Given the description of an element on the screen output the (x, y) to click on. 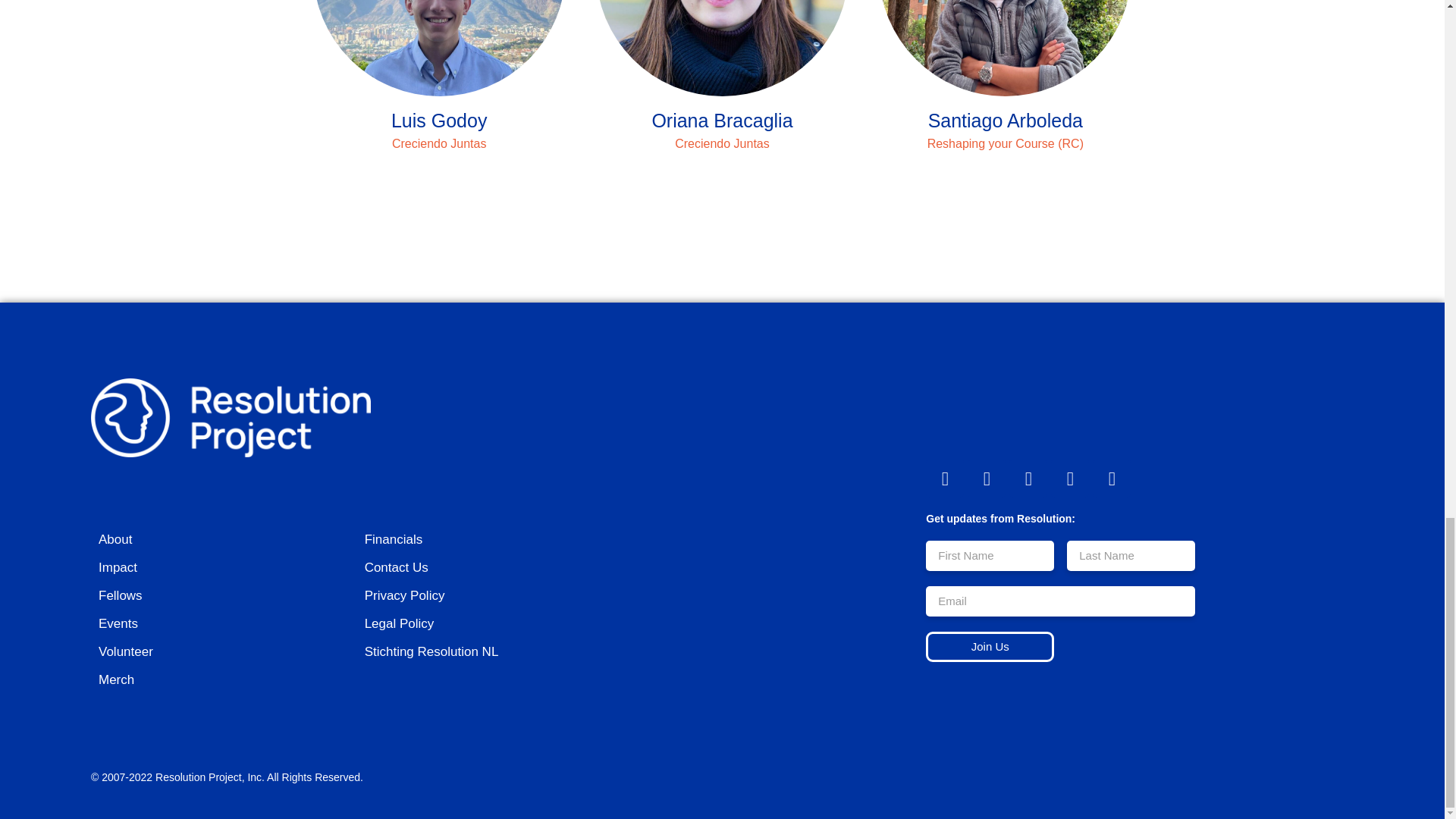
Santiago Arboleda Headshot (1005, 48)
